Given the description of an element on the screen output the (x, y) to click on. 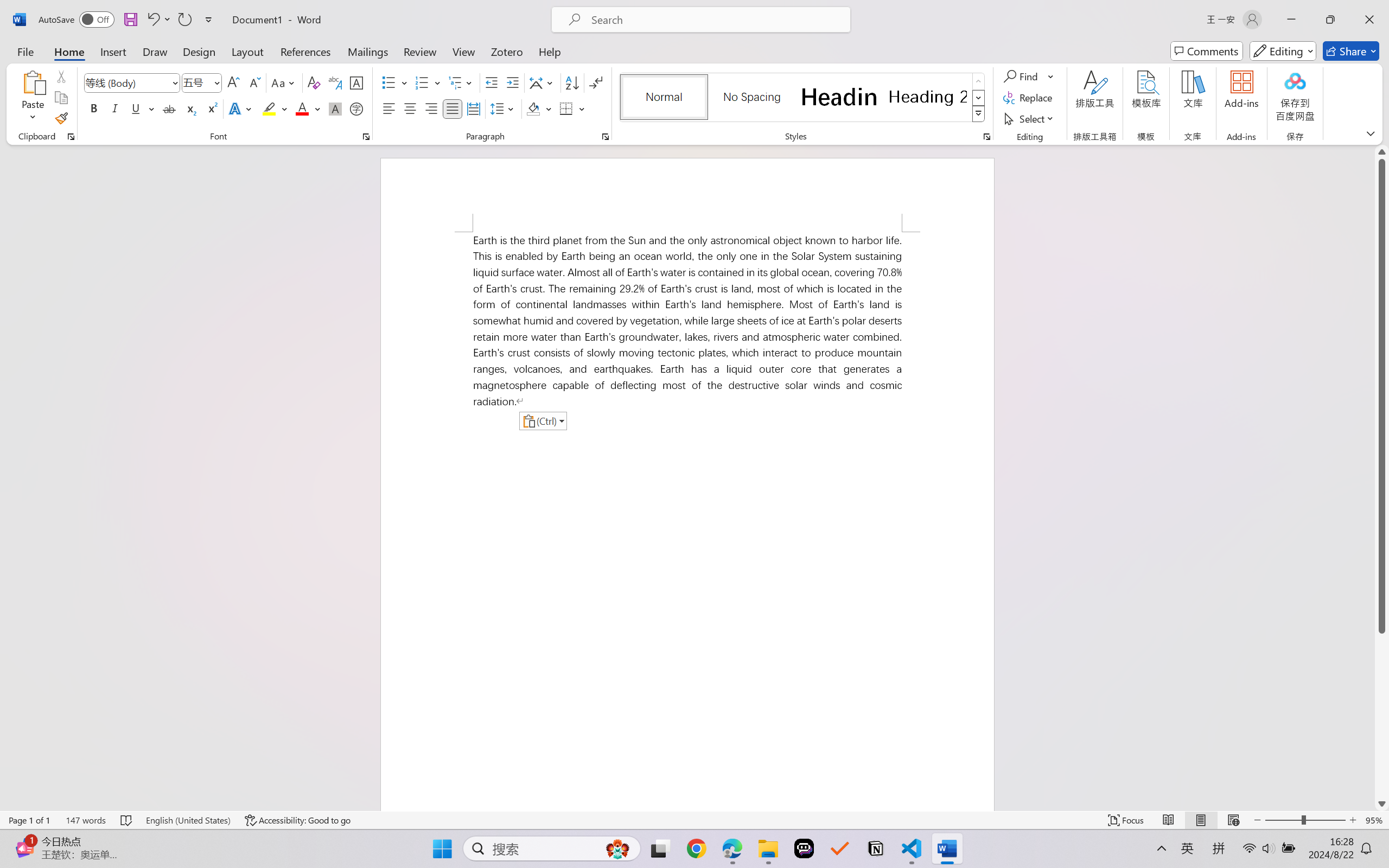
Page 1 content (687, 521)
Superscript (210, 108)
Undo Paste Text Only (158, 19)
Zoom 95% (1374, 819)
Multilevel List (461, 82)
Subscript (190, 108)
Format Painter (60, 118)
Repeat Paste Option (184, 19)
